Given the description of an element on the screen output the (x, y) to click on. 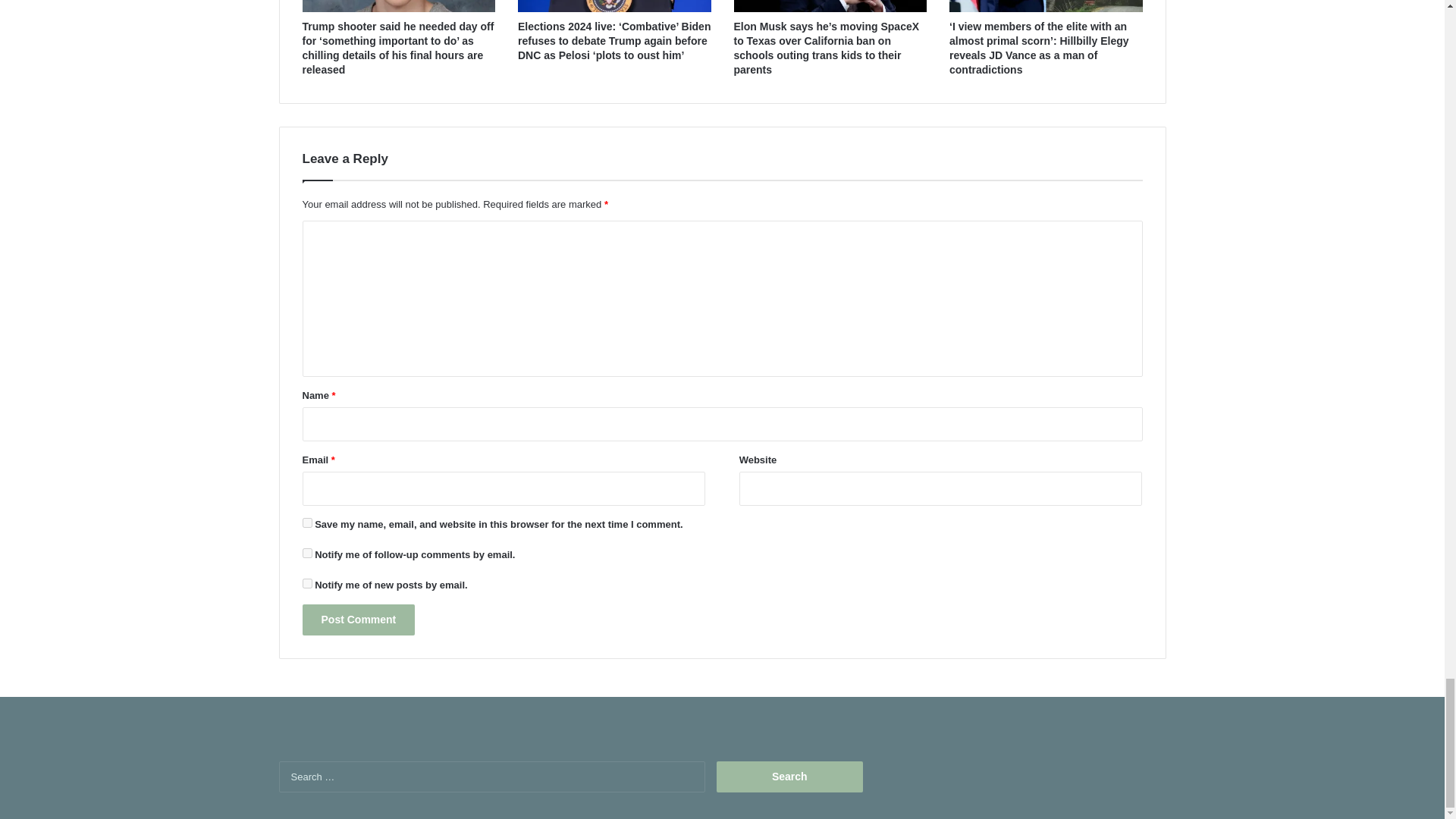
Post Comment (357, 619)
Search (789, 776)
subscribe (306, 583)
Search (789, 776)
yes (306, 522)
subscribe (306, 552)
